Given the description of an element on the screen output the (x, y) to click on. 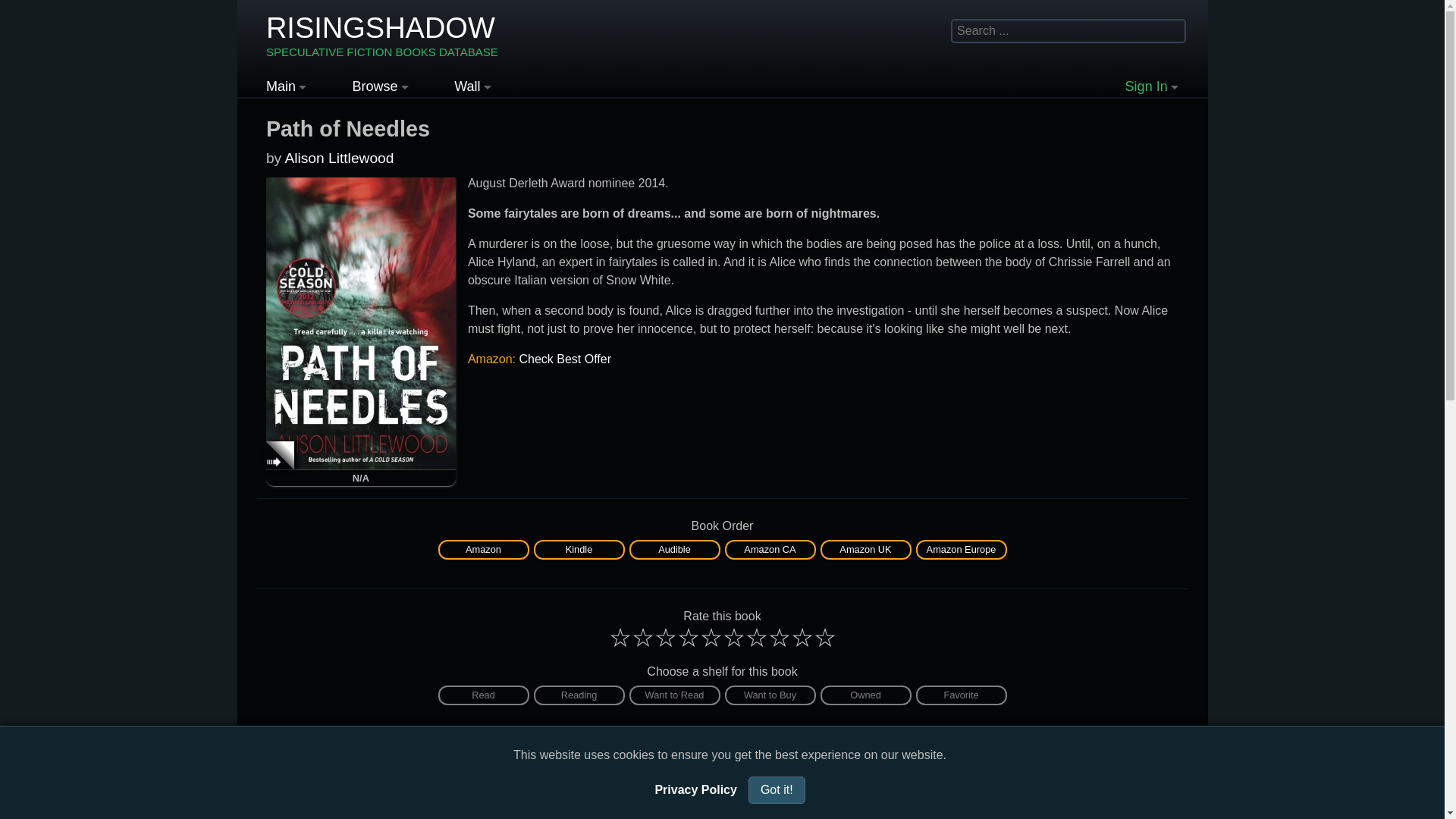
Check Best Offer (564, 358)
Audible (674, 549)
Audible (674, 548)
Reading (579, 695)
Want to Read (381, 36)
Want to Buy (674, 695)
Amazon CA (770, 695)
Amazon (769, 548)
Owned (483, 548)
Amazon (866, 695)
Read (483, 549)
Want to Buy (483, 695)
Amazon UK (770, 695)
Reading (866, 549)
